Given the description of an element on the screen output the (x, y) to click on. 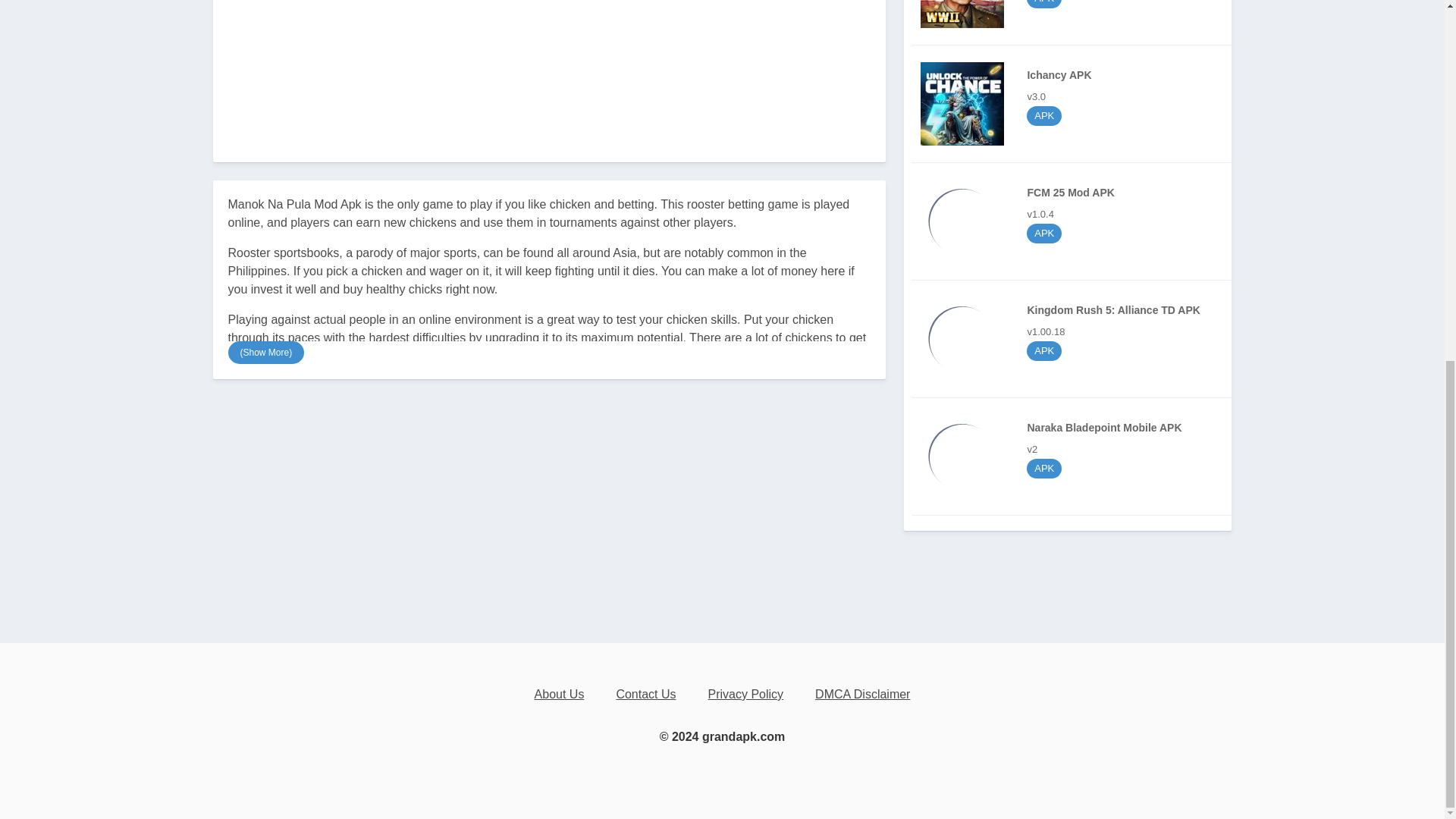
FCM 25 Mod APK (1075, 221)
Advertisement (1075, 338)
Ichancy APK (548, 65)
Ichancy APK (1075, 103)
About Us (962, 103)
Advertisement (558, 694)
Glory of Generals 3 MOD APK (1075, 456)
Glory of Generals 3 MOD APK (1075, 103)
